Given the description of an element on the screen output the (x, y) to click on. 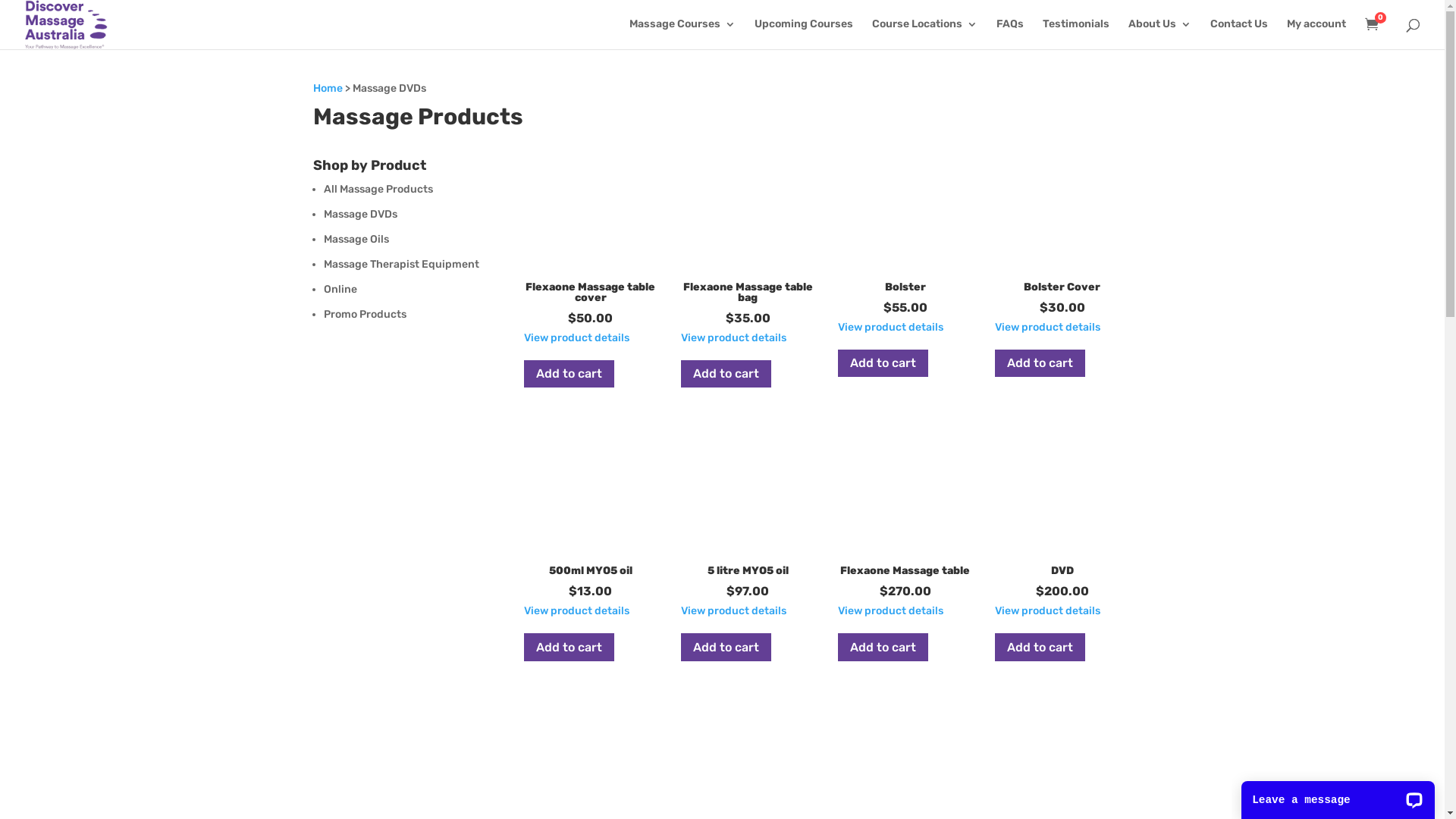
View product details Element type: text (890, 326)
View product details Element type: text (733, 610)
About Us Element type: text (1159, 33)
Massage Courses Element type: text (682, 33)
Add to cart Element type: text (882, 363)
Bolster
$55.00 Element type: text (904, 234)
View product details Element type: text (1047, 326)
View product details Element type: text (1047, 610)
View product details Element type: text (576, 610)
Massage DVDs Element type: text (359, 213)
Add to cart Element type: text (569, 647)
Contact Us Element type: text (1238, 33)
Promo Products Element type: text (364, 313)
500ml MYO5 oil
$13.00 Element type: text (591, 518)
DVD
$200.00 Element type: text (1061, 518)
Bolster Cover
$30.00 Element type: text (1061, 234)
View product details Element type: text (576, 337)
5 litre MYO5 oil
$97.00 Element type: text (747, 518)
View product details Element type: text (890, 610)
Upcoming Courses Element type: text (803, 33)
Add to cart Element type: text (569, 374)
FAQs Element type: text (1009, 33)
Massage Oils Element type: text (355, 238)
Add to cart Element type: text (1039, 647)
Massage Therapist Equipment Element type: text (400, 263)
All Massage Products Element type: text (377, 188)
Home Element type: text (327, 87)
Flexaone Massage table cover
$50.00 Element type: text (591, 239)
Add to cart Element type: text (725, 374)
View product details Element type: text (733, 337)
Add to cart Element type: text (1039, 363)
Course Locations Element type: text (924, 33)
Flexaone Massage table bag
$35.00 Element type: text (747, 239)
Add to cart Element type: text (882, 647)
Testimonials Element type: text (1075, 33)
Add to cart Element type: text (725, 647)
My account Element type: text (1316, 33)
Online Element type: text (339, 288)
Flexaone Massage table
$270.00 Element type: text (904, 518)
